Given the description of an element on the screen output the (x, y) to click on. 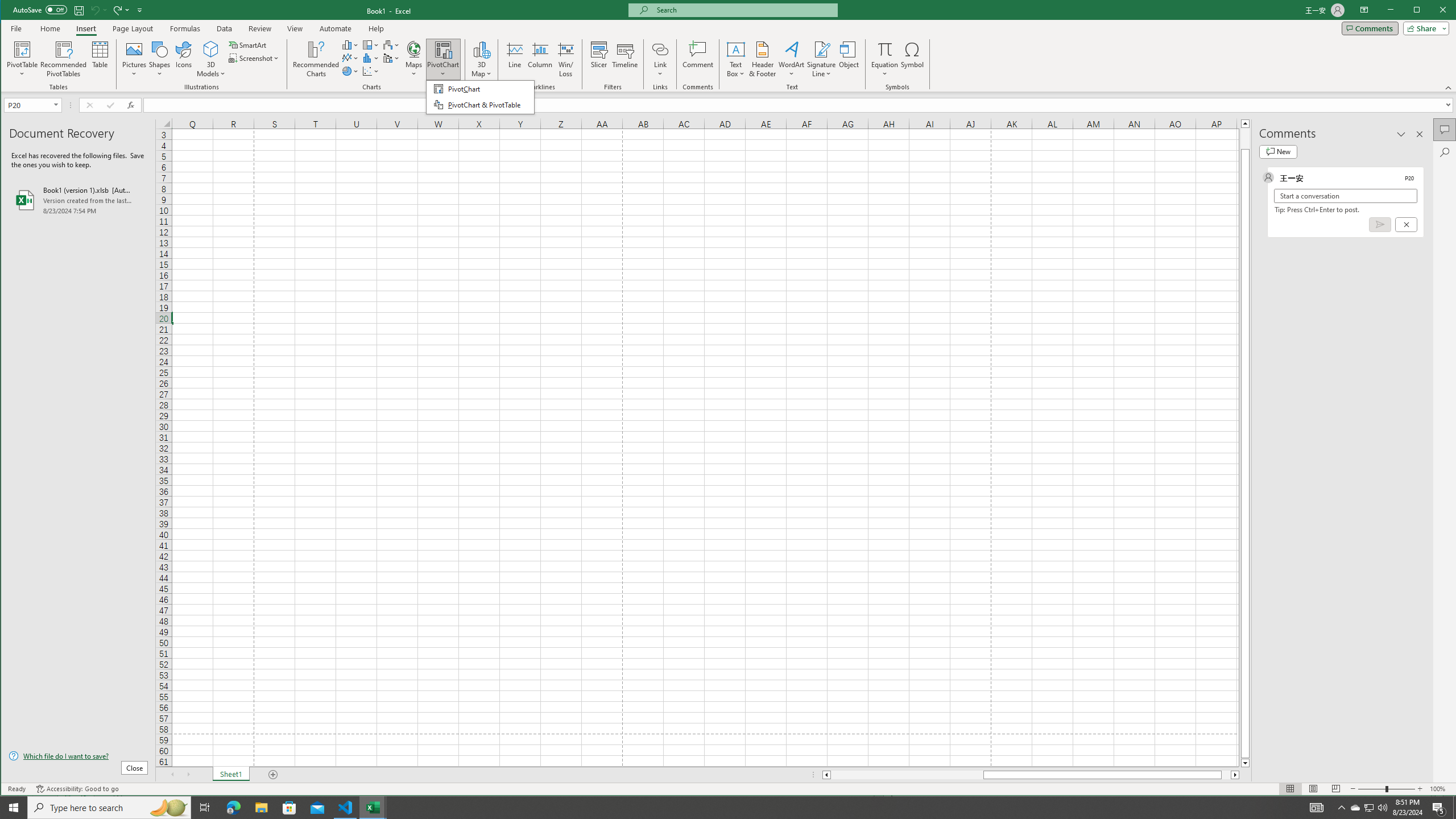
Insert Statistic Chart (371, 57)
Insert Column or Bar Chart (350, 44)
Page up (1245, 138)
Microsoft Edge (233, 807)
Table (100, 59)
Cancel (1405, 224)
